Given the description of an element on the screen output the (x, y) to click on. 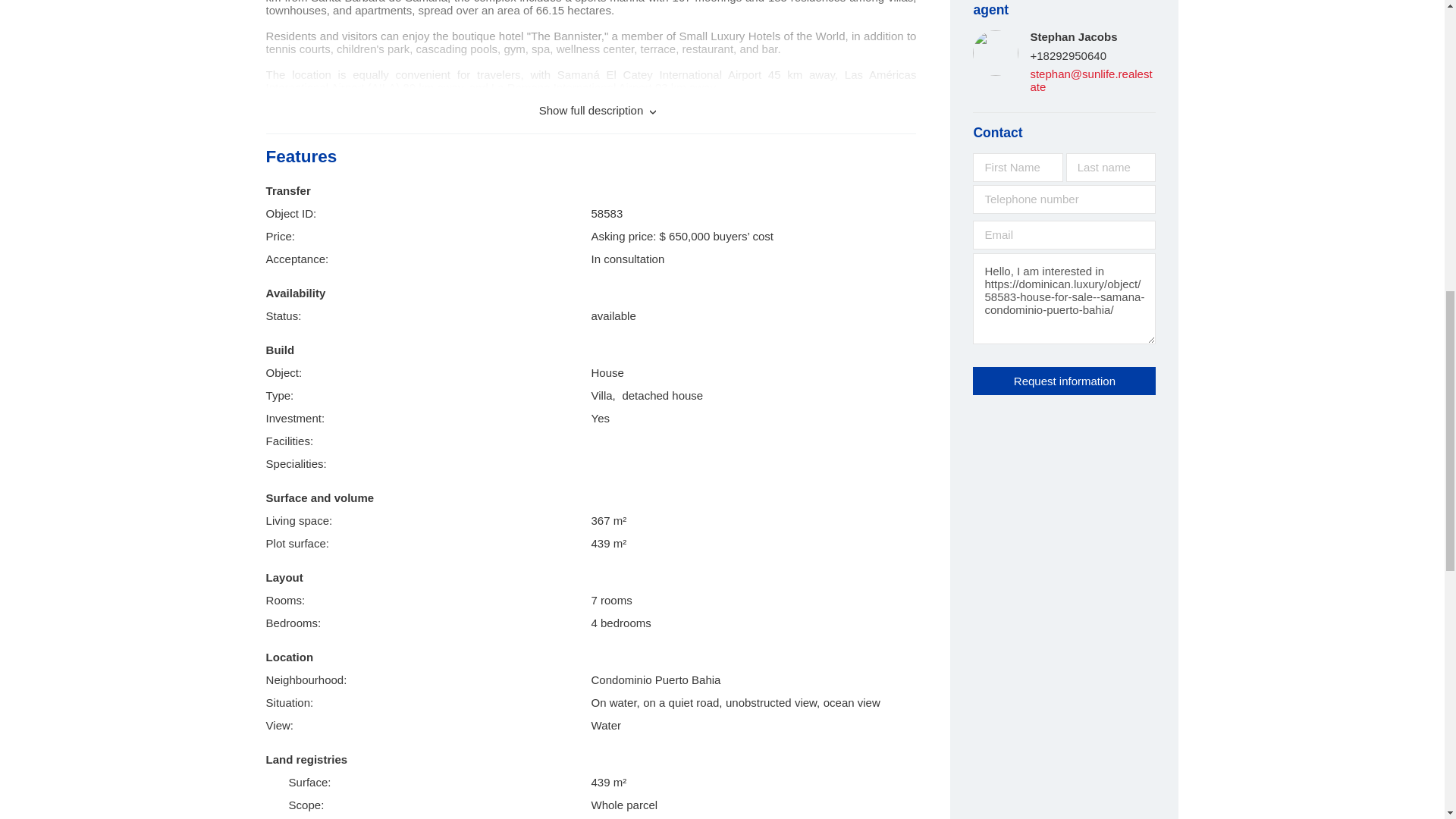
Request information (1064, 380)
